Given the description of an element on the screen output the (x, y) to click on. 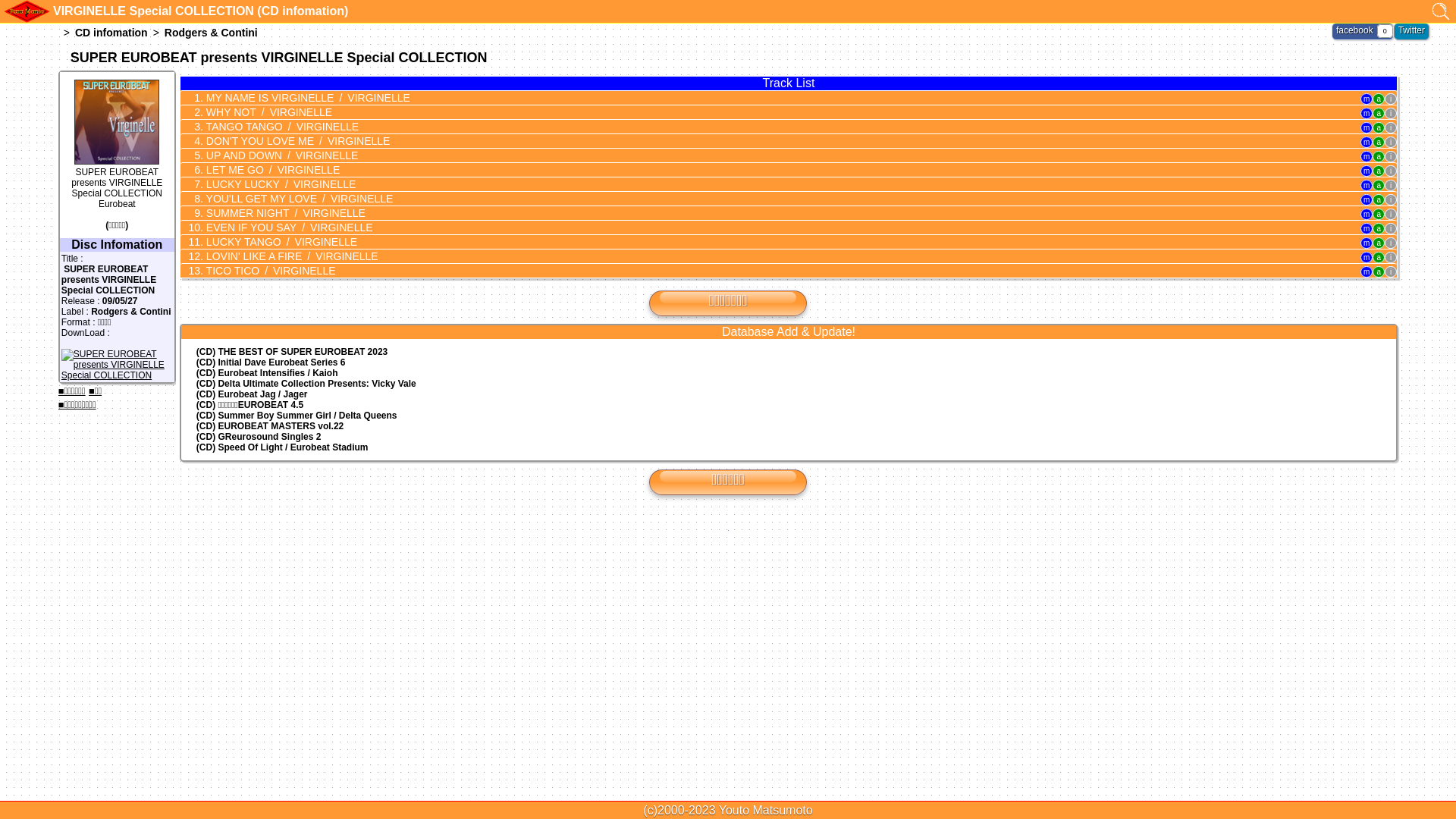
(CD) Eurobeat Jag / Jager Element type: text (788, 394)
(CD) Delta Ultimate Collection Presents: Vicky Vale Element type: text (788, 383)
x Element type: text (1447, 8)
(CD) Initial Dave Eurobeat Series 6 Element type: text (788, 362)
(CD) EUROBEAT MASTERS vol.22 Element type: text (788, 425)
UP AND DOWNVIRGINELLE Element type: text (772, 155)
YOU'LL GET MY LOVEVIRGINELLE Element type: text (772, 198)
Rodgers & Contini Element type: text (210, 32)
EVEN IF YOU SAYVIRGINELLE Element type: text (772, 227)
WHY NOTVIRGINELLE Element type: text (772, 112)
SUMMER NIGHTVIRGINELLE Element type: text (772, 213)
facebook Element type: text (1354, 30)
LOVIN' LIKE A FIREVIRGINELLE Element type: text (772, 256)
CD infomation Element type: text (111, 32)
(CD) Eurobeat Intensifies / Kaioh Element type: text (788, 372)
TICO TICOVIRGINELLE Element type: text (772, 270)
(CD) Speed Of Light / Eurobeat Stadium Element type: text (788, 447)
LUCKY TANGOVIRGINELLE Element type: text (772, 241)
DON'T YOU LOVE MEVIRGINELLE Element type: text (772, 140)
LET ME GOVIRGINELLE Element type: text (772, 169)
(CD) THE BEST OF SUPER EUROBEAT 2023 Element type: text (788, 351)
(CD) GReurosound Singles 2 Element type: text (788, 436)
Twitter Element type: text (1411, 30)
TANGO TANGOVIRGINELLE Element type: text (772, 126)
LUCKY LUCKYVIRGINELLE Element type: text (772, 184)
MY NAME IS VIRGINELLEVIRGINELLE Element type: text (772, 97)
(CD) Summer Boy Summer Girl / Delta Queens Element type: text (788, 415)
